Given the description of an element on the screen output the (x, y) to click on. 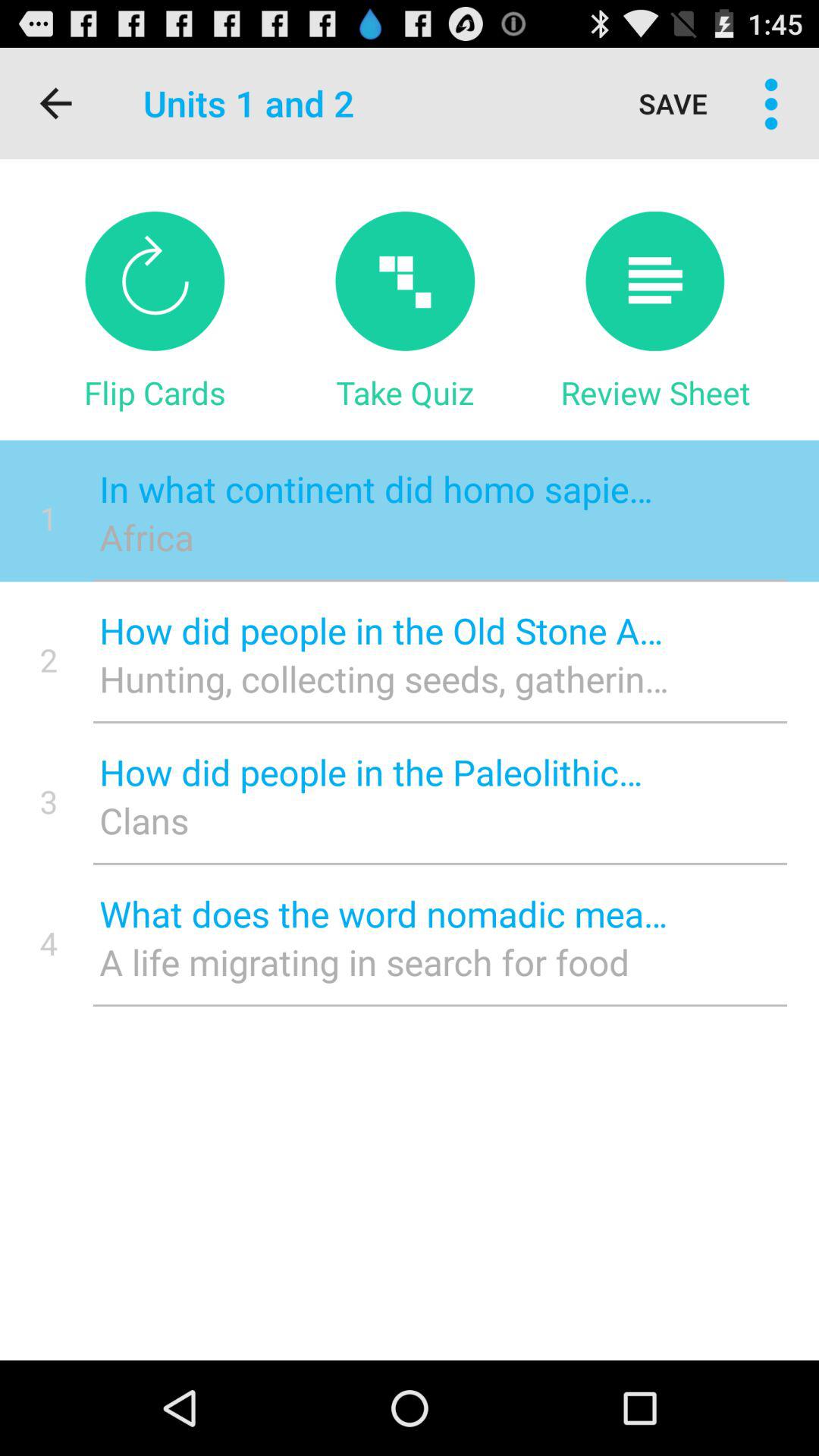
choose save icon (672, 103)
